Given the description of an element on the screen output the (x, y) to click on. 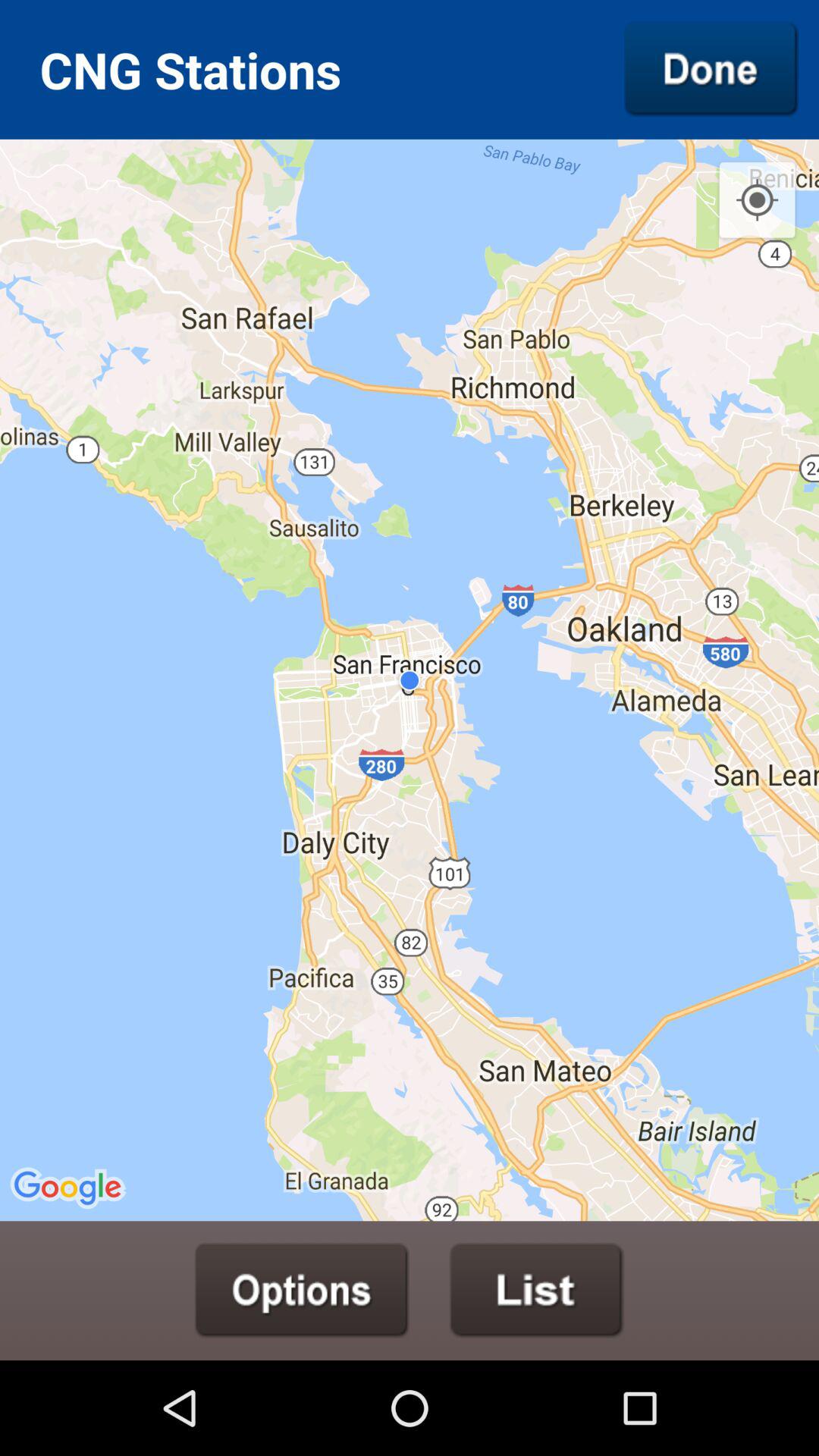
open the item next to the cng stations item (711, 69)
